Given the description of an element on the screen output the (x, y) to click on. 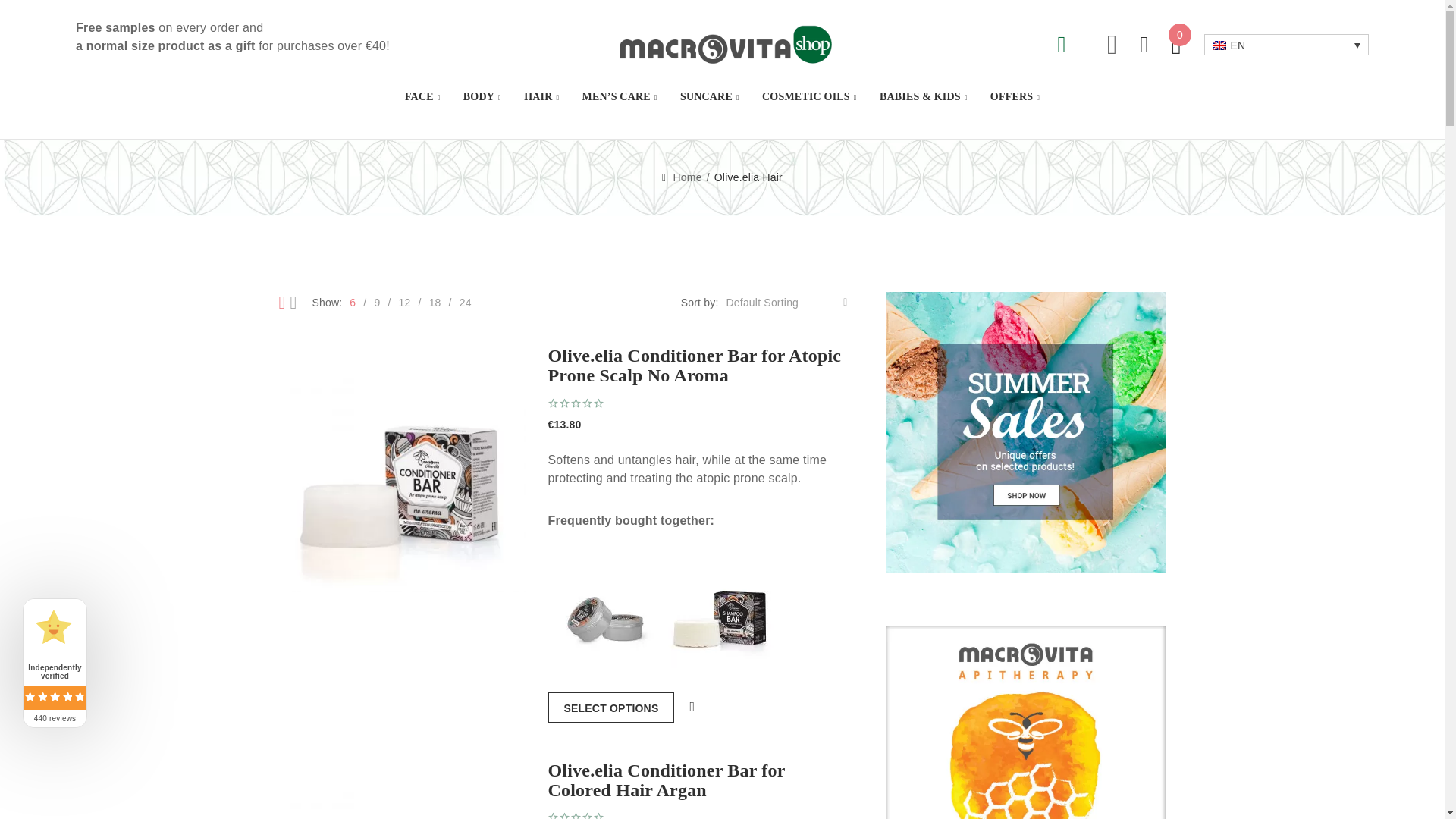
0 (1176, 44)
EN (1286, 44)
FACE (422, 96)
0 (1176, 44)
